Given the description of an element on the screen output the (x, y) to click on. 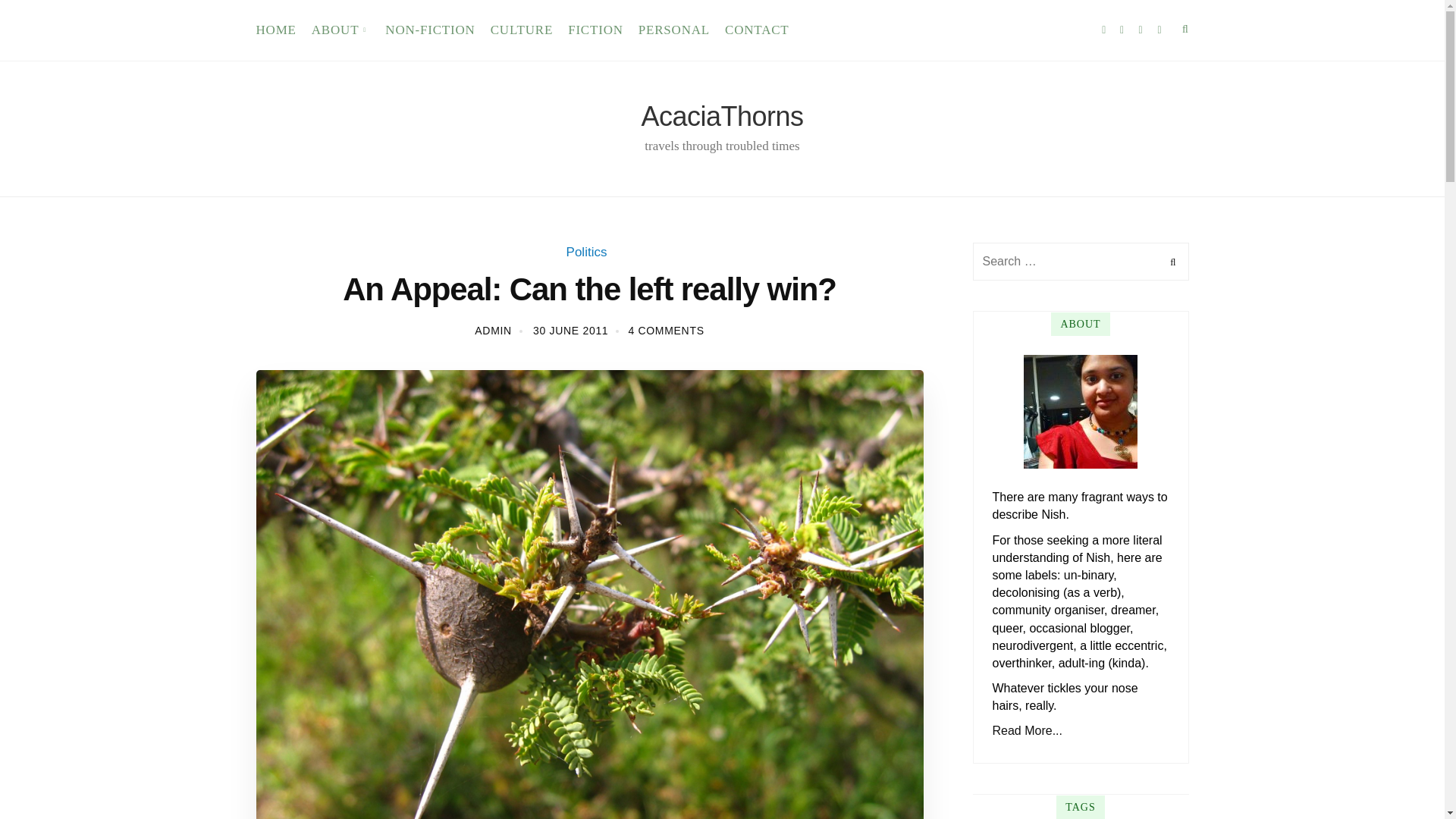
Politics (586, 251)
Search (1171, 261)
Search (1171, 261)
CONTACT (756, 30)
ADMIN (493, 330)
CULTURE (521, 30)
ABOUT (341, 30)
FICTION (595, 30)
4 COMMENTS (665, 330)
AcaciaThorns (721, 115)
